Given the description of an element on the screen output the (x, y) to click on. 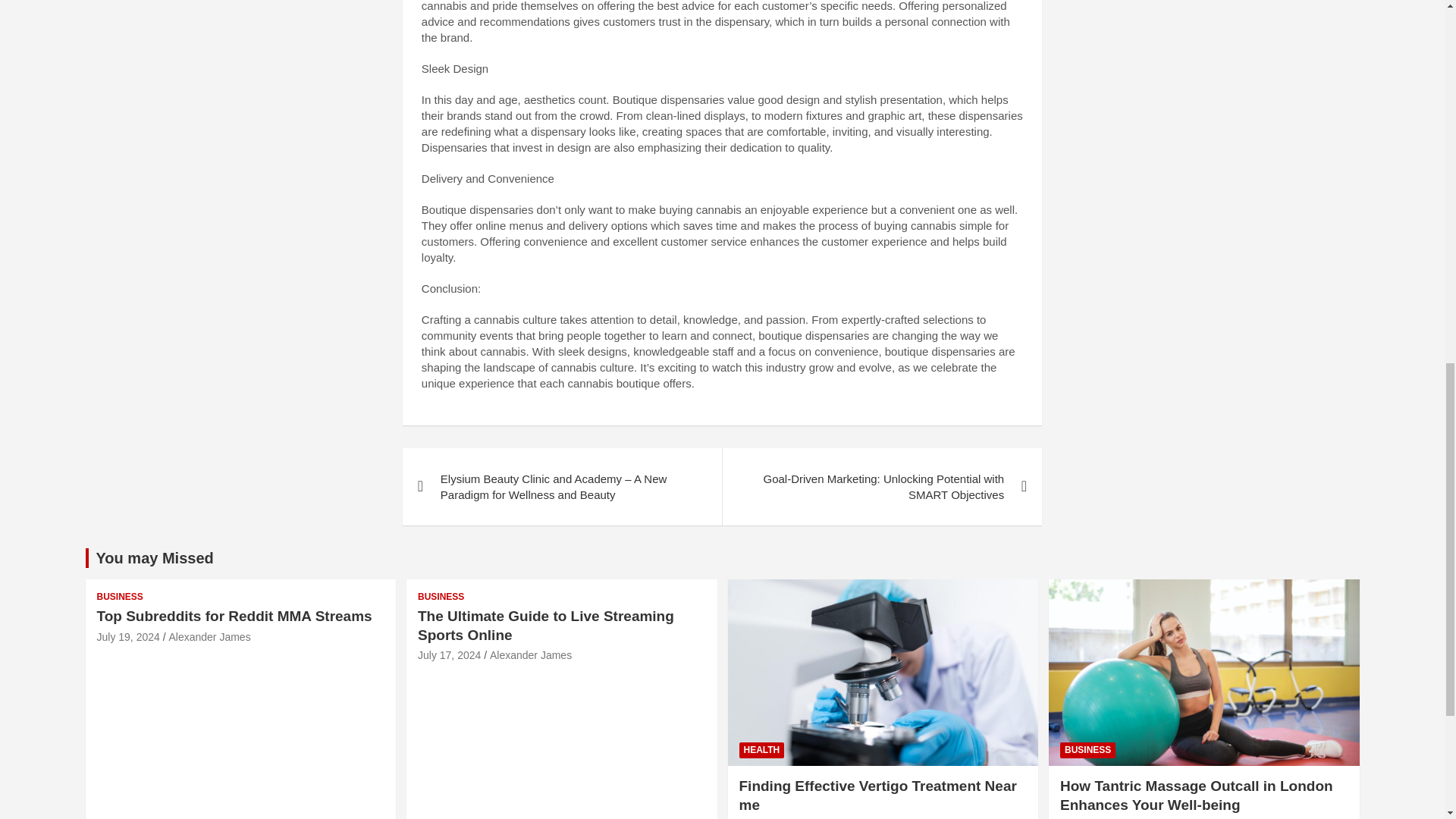
Top Subreddits for Reddit MMA Streams (234, 616)
Top Subreddits for Reddit MMA Streams (128, 636)
BUSINESS (440, 596)
BUSINESS (119, 596)
Finding Effective Vertigo Treatment Near me (877, 795)
Alexander James (209, 636)
The Ultimate Guide to Live Streaming Sports Online (448, 654)
BUSINESS (1087, 750)
July 17, 2024 (448, 654)
HEALTH (761, 750)
You may Missed (154, 557)
July 19, 2024 (128, 636)
The Ultimate Guide to Live Streaming Sports Online (545, 625)
Alexander James (530, 654)
